Given the description of an element on the screen output the (x, y) to click on. 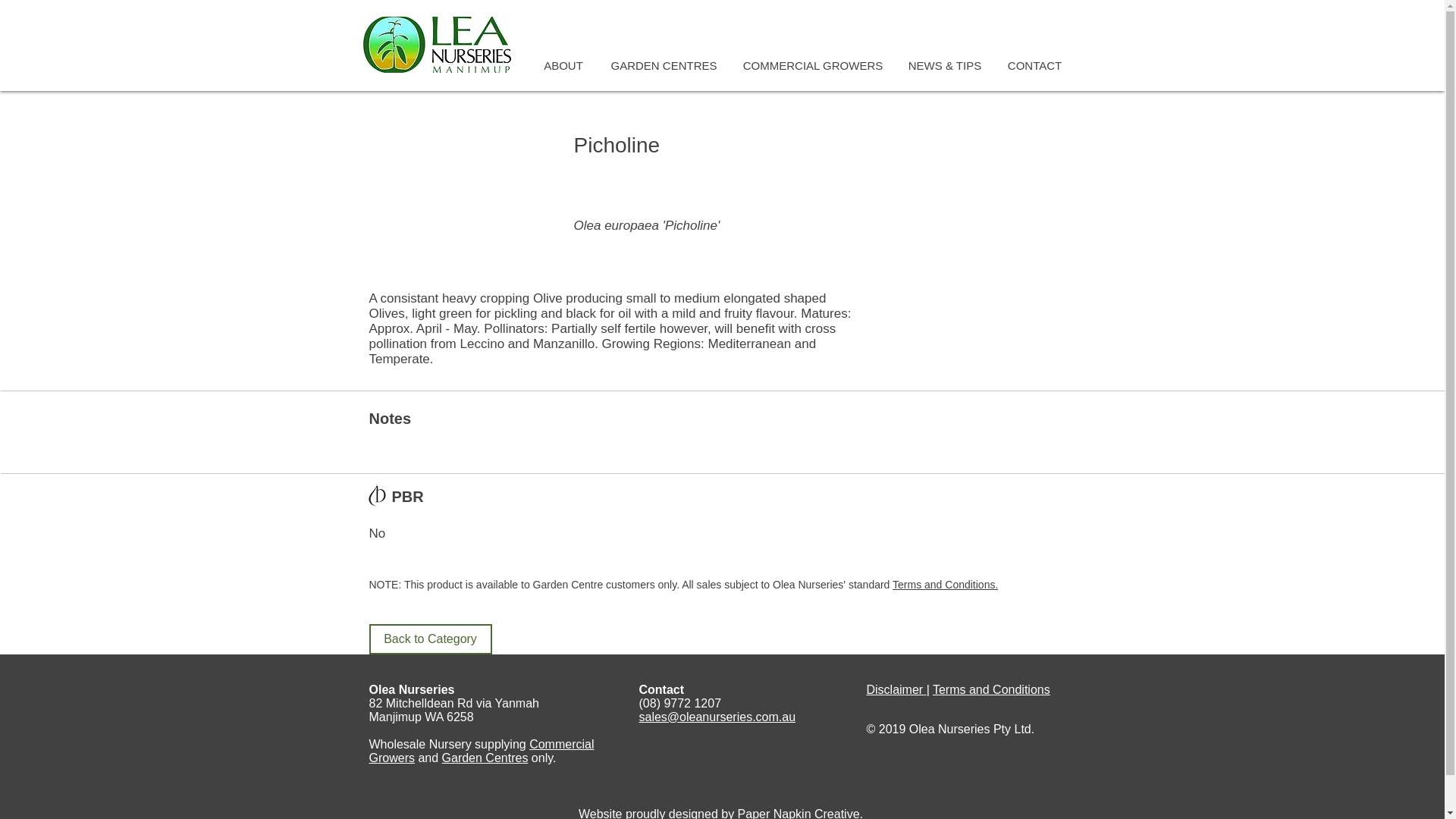
Back to Category (430, 639)
Screen Shot 2019-02-28 at 8.54.28 am.png (377, 494)
Commercial Growers (481, 750)
Garden Centres (485, 757)
Terms and Conditions. (944, 584)
ABOUT (563, 65)
Website proudly designed by Paper Napkin Creative. (720, 813)
olea logo final.jpg (436, 44)
GARDEN CENTRES (662, 65)
CONTACT (1033, 65)
Disclaimer (896, 689)
COMMERCIAL GROWERS (812, 65)
Terms and Conditions (991, 689)
